Given the description of an element on the screen output the (x, y) to click on. 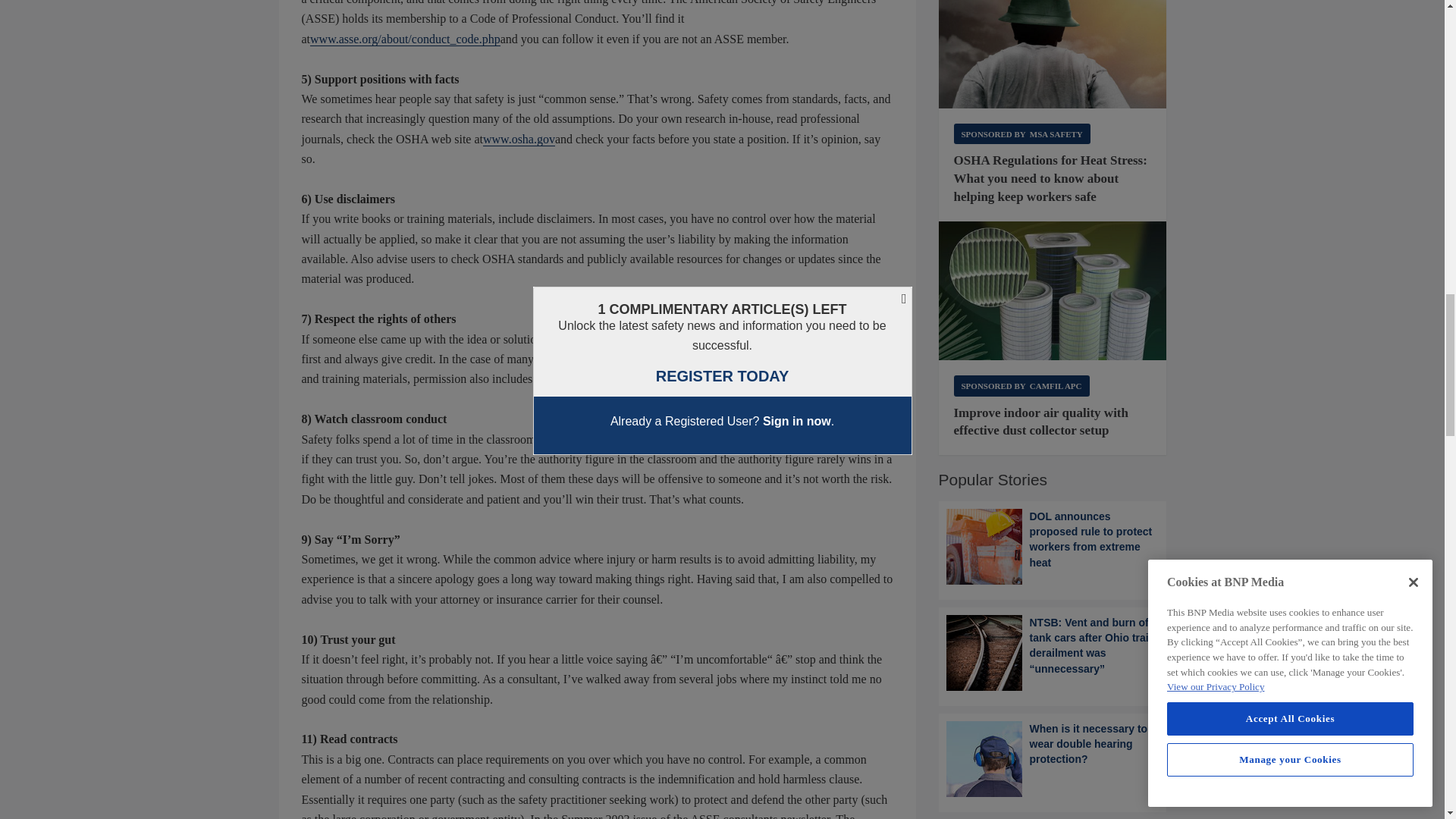
dust collector filters and media (1052, 291)
Sponsored by MSA Safety (1021, 133)
man working in summer heat (1052, 54)
When is it necessary to wear double hearing protection? (1052, 758)
Sponsored by Camfil APC (1021, 385)
